Given the description of an element on the screen output the (x, y) to click on. 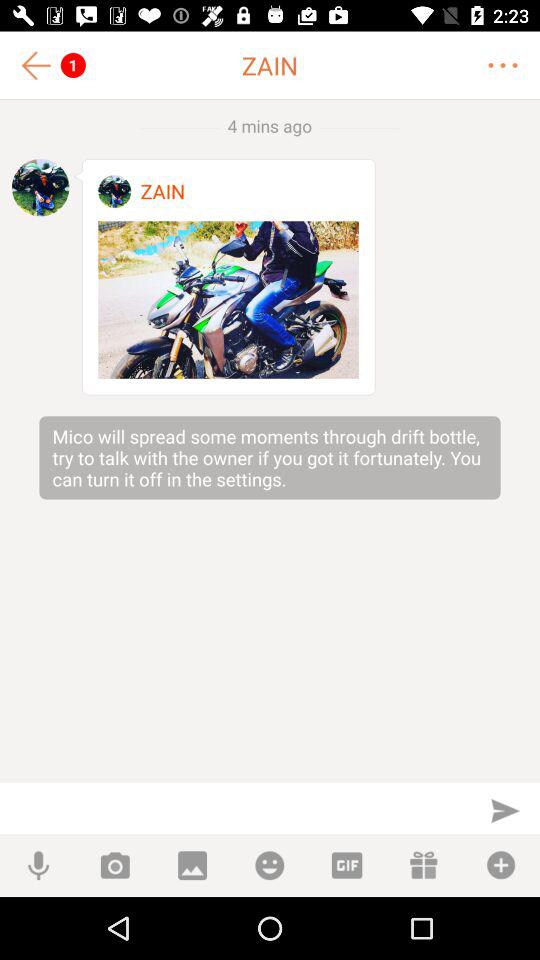
look at profile picture (114, 191)
